Given the description of an element on the screen output the (x, y) to click on. 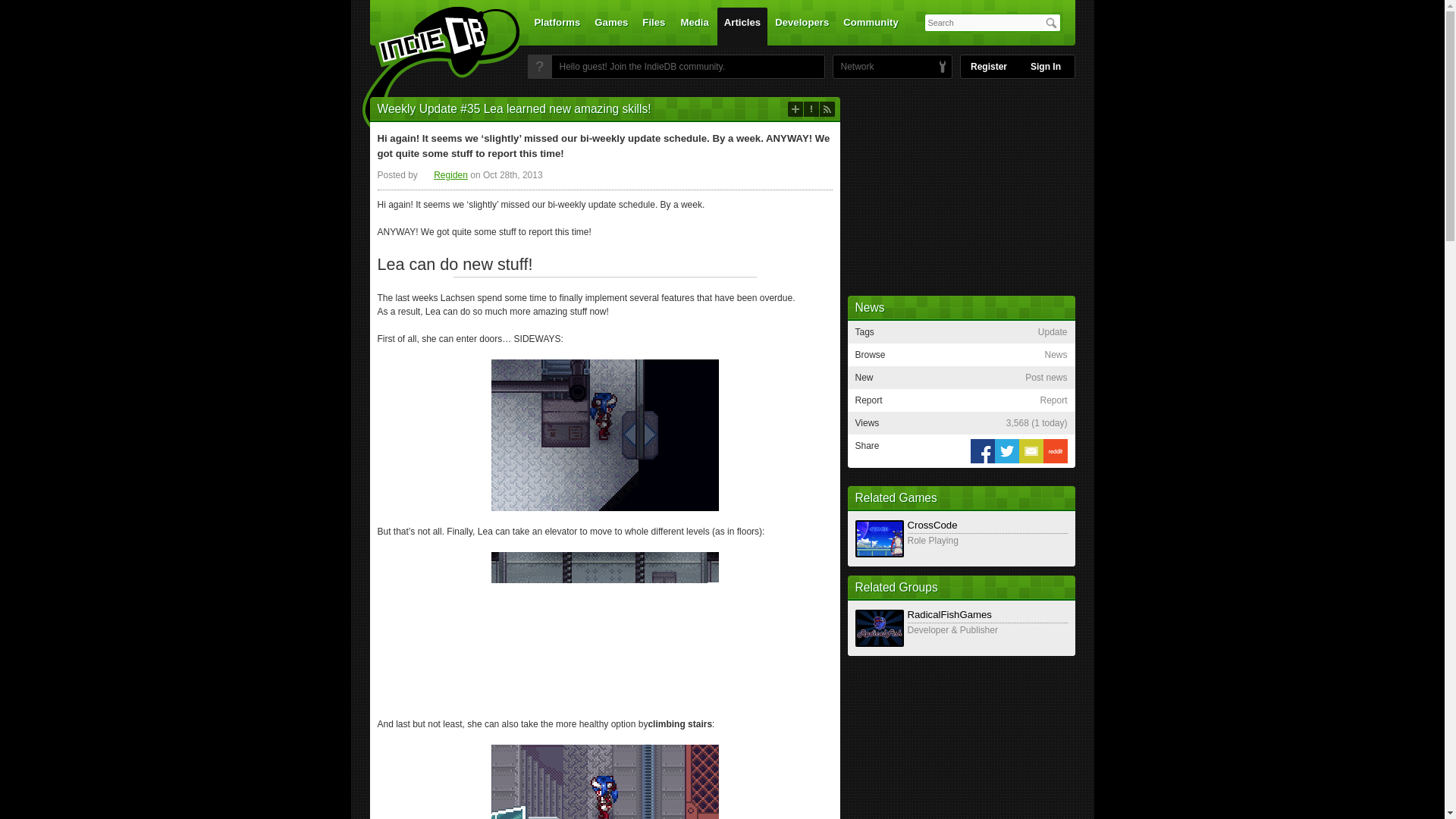
Community (870, 26)
Home (430, 70)
Join IndieDB (539, 66)
Files (652, 26)
DBolical (852, 66)
Games (611, 26)
Article Manager (443, 174)
Developers (801, 26)
Search IndieDB (1050, 22)
Post news (794, 109)
